Given the description of an element on the screen output the (x, y) to click on. 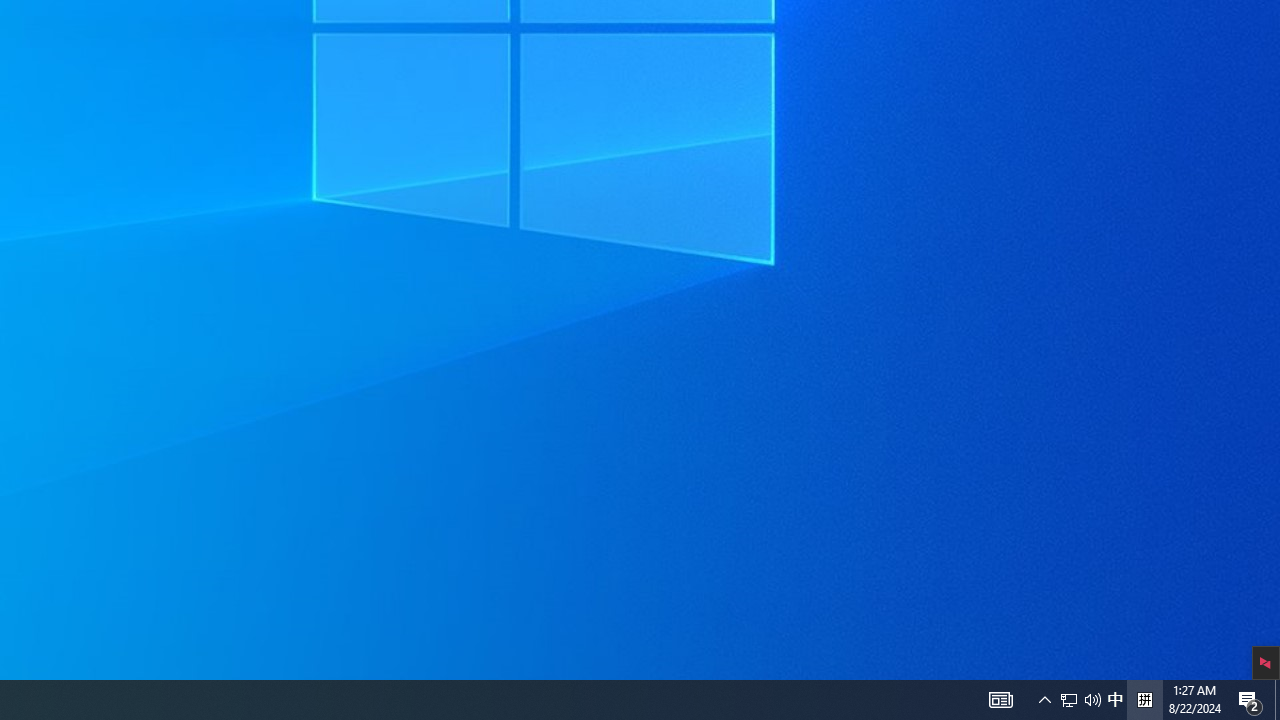
Action Center, 2 new notifications (1250, 699)
Q2790: 100% (1115, 699)
Notification Chevron (1092, 699)
Show desktop (1044, 699)
User Promoted Notification Area (1277, 699)
Tray Input Indicator - Chinese (Simplified, China) (1069, 699)
AutomationID: 4105 (1080, 699)
